Given the description of an element on the screen output the (x, y) to click on. 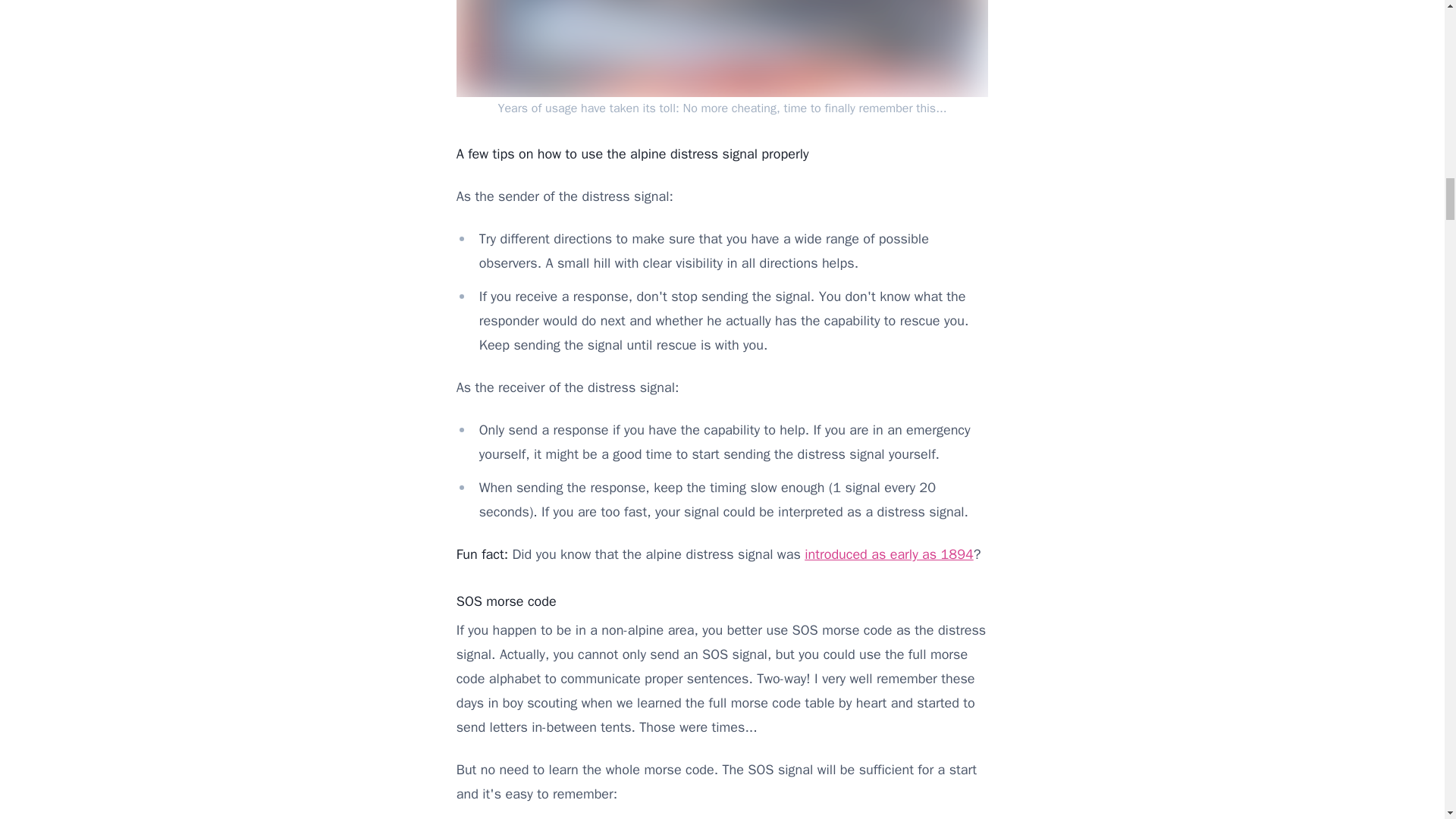
introduced as early as 1894 (889, 554)
